Given the description of an element on the screen output the (x, y) to click on. 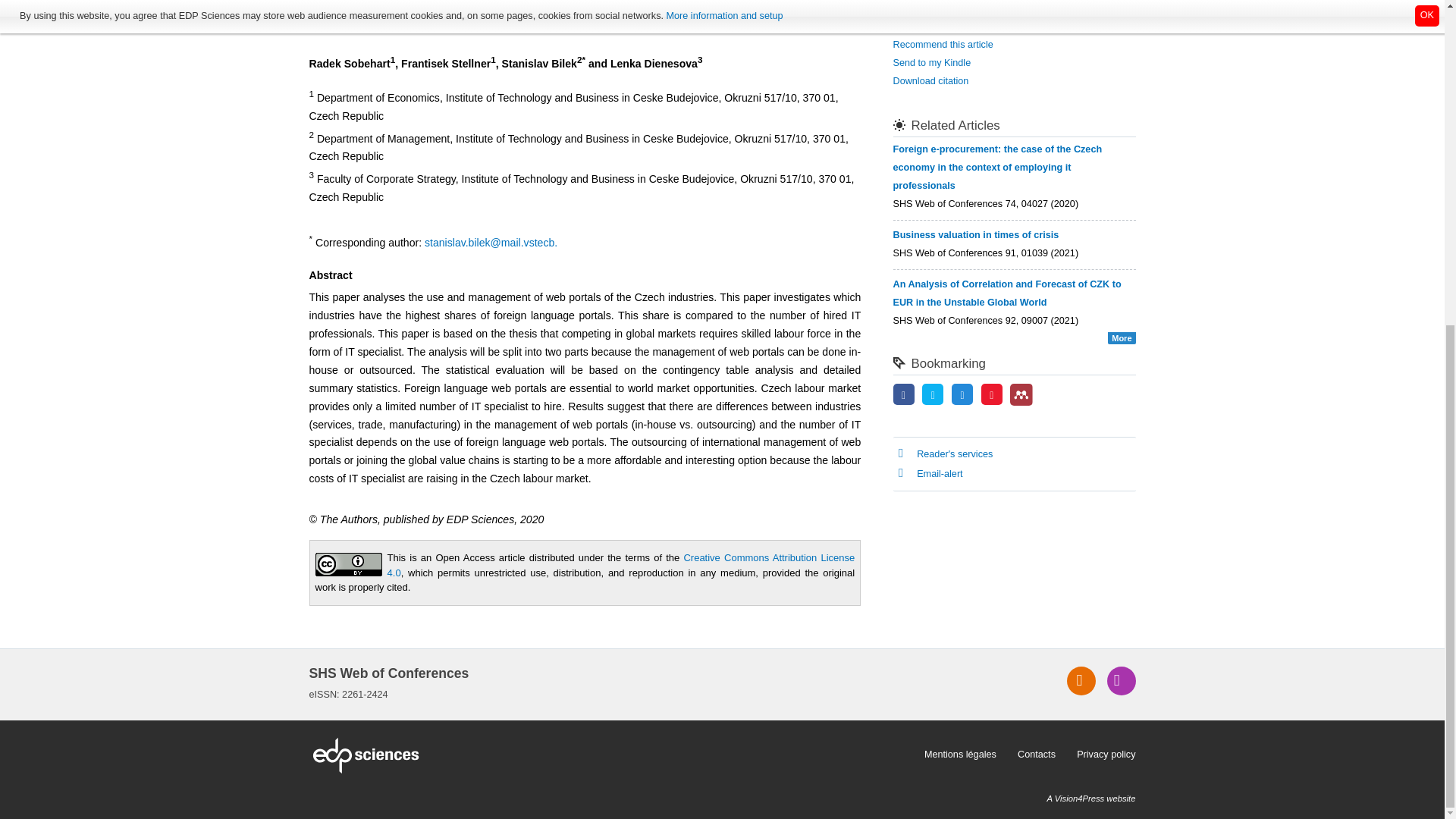
Mendeley (1021, 395)
